Given the description of an element on the screen output the (x, y) to click on. 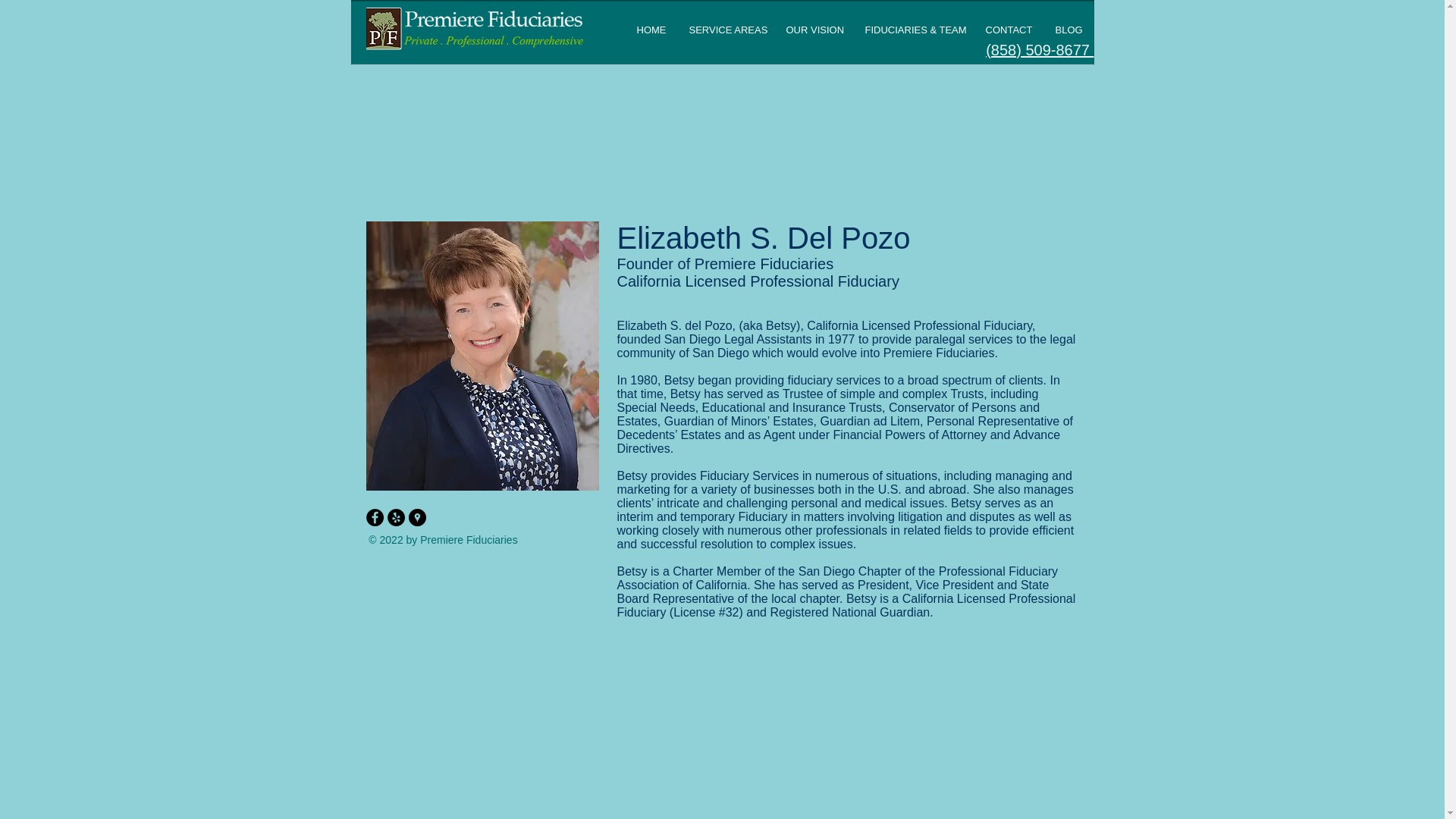
OUR VISION (813, 29)
BLOG (1068, 29)
CONTACT (1008, 29)
HOME (650, 29)
SERVICE AREAS (726, 29)
